Given the description of an element on the screen output the (x, y) to click on. 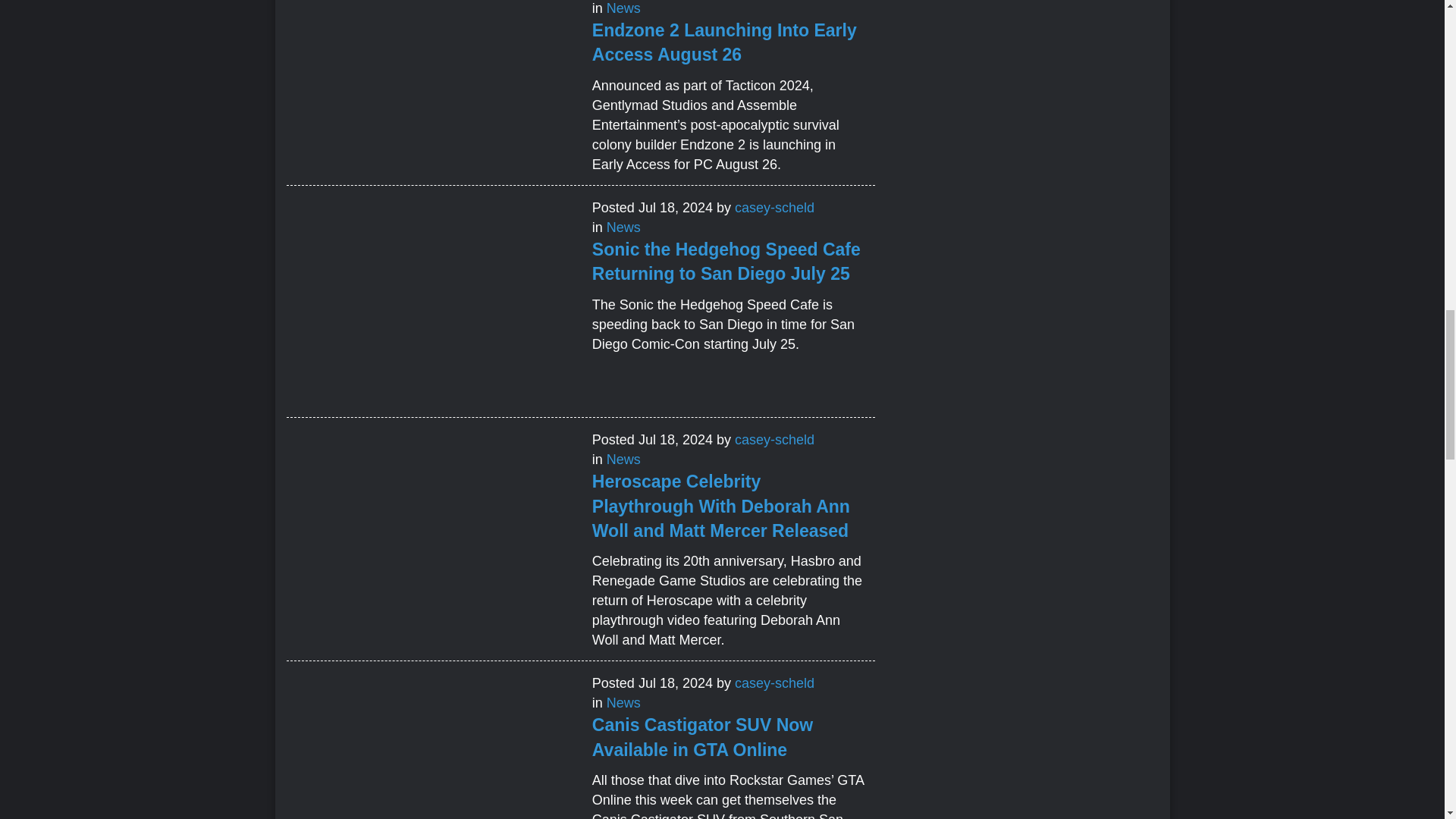
News (623, 7)
